Given the description of an element on the screen output the (x, y) to click on. 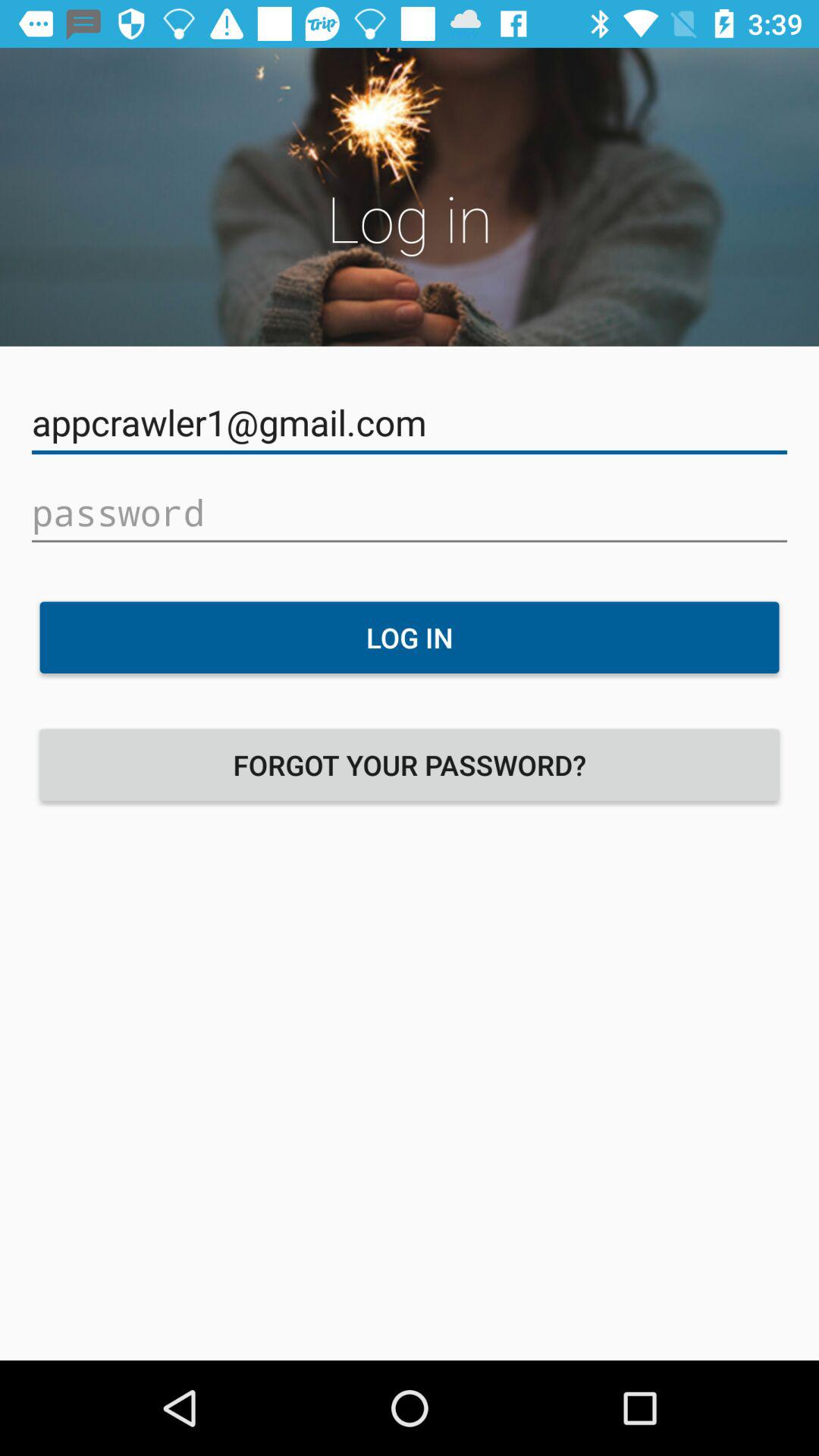
turn on forgot your password? icon (409, 764)
